Given the description of an element on the screen output the (x, y) to click on. 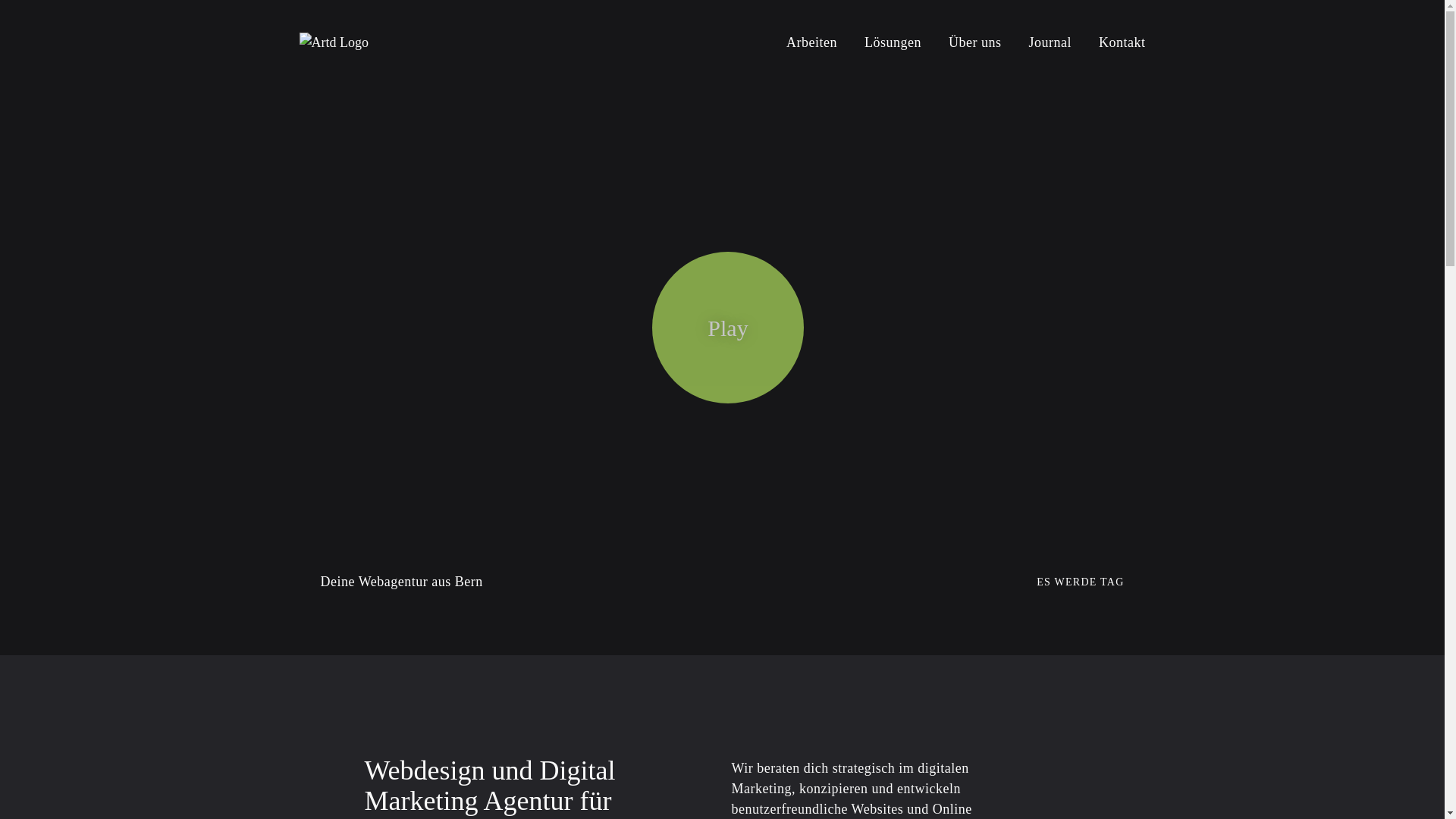
Journal Element type: text (1049, 42)
Arbeiten Element type: text (811, 42)
Kontakt Element type: text (1115, 42)
Play Element type: text (727, 327)
